Given the description of an element on the screen output the (x, y) to click on. 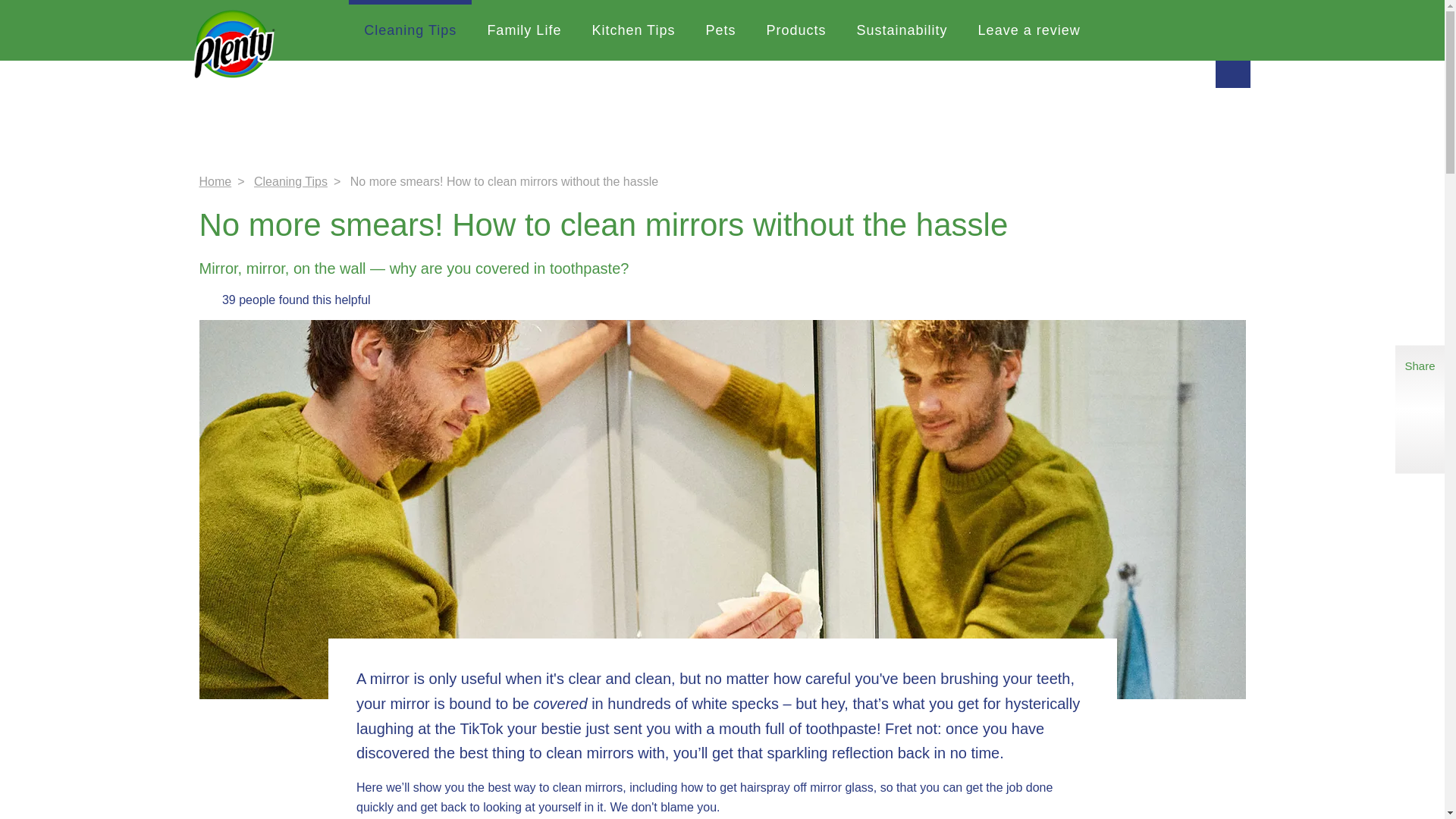
Home (214, 182)
Cleaning Tips (290, 182)
Cleaning Tips (410, 30)
Leave a review (1029, 30)
Sustainability (901, 30)
Pets (720, 30)
Kitchen Tips (633, 30)
Products (796, 30)
Family Life (523, 30)
